Given the description of an element on the screen output the (x, y) to click on. 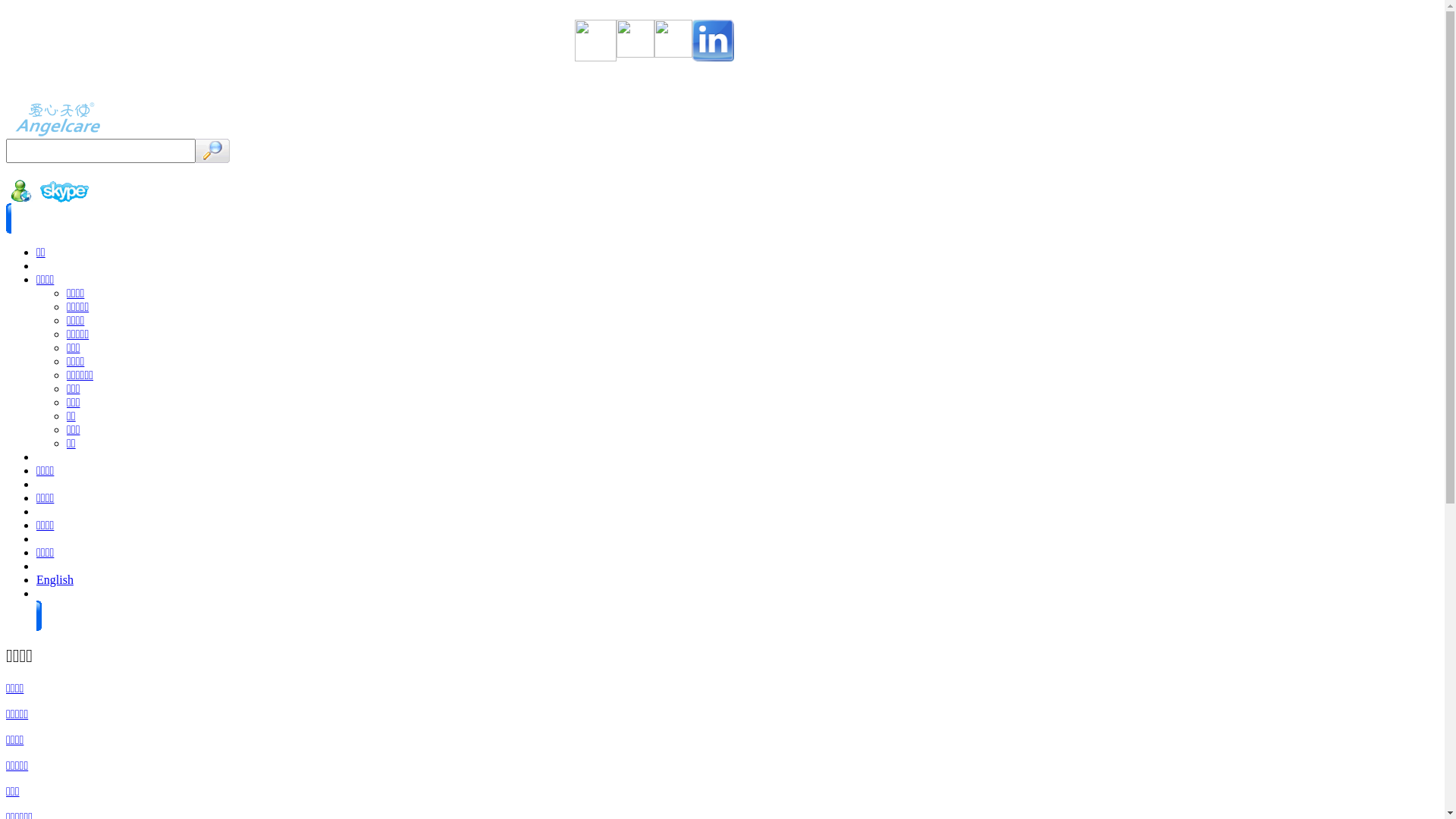
English Element type: text (54, 579)
